Given the description of an element on the screen output the (x, y) to click on. 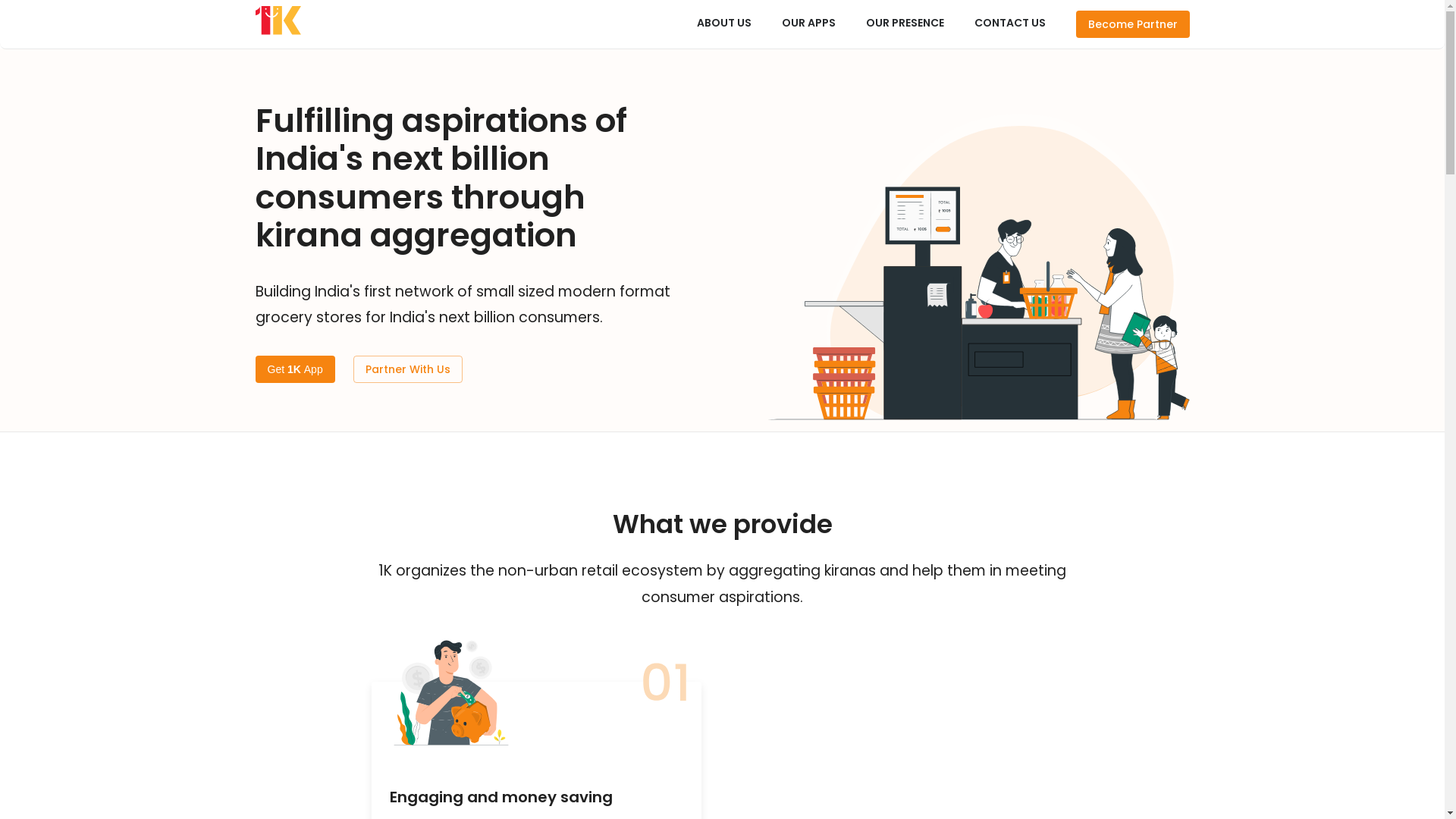
Partner With Us Element type: text (407, 369)
Get 1K App Element type: text (294, 369)
Become Partner Element type: text (1132, 24)
